Given the description of an element on the screen output the (x, y) to click on. 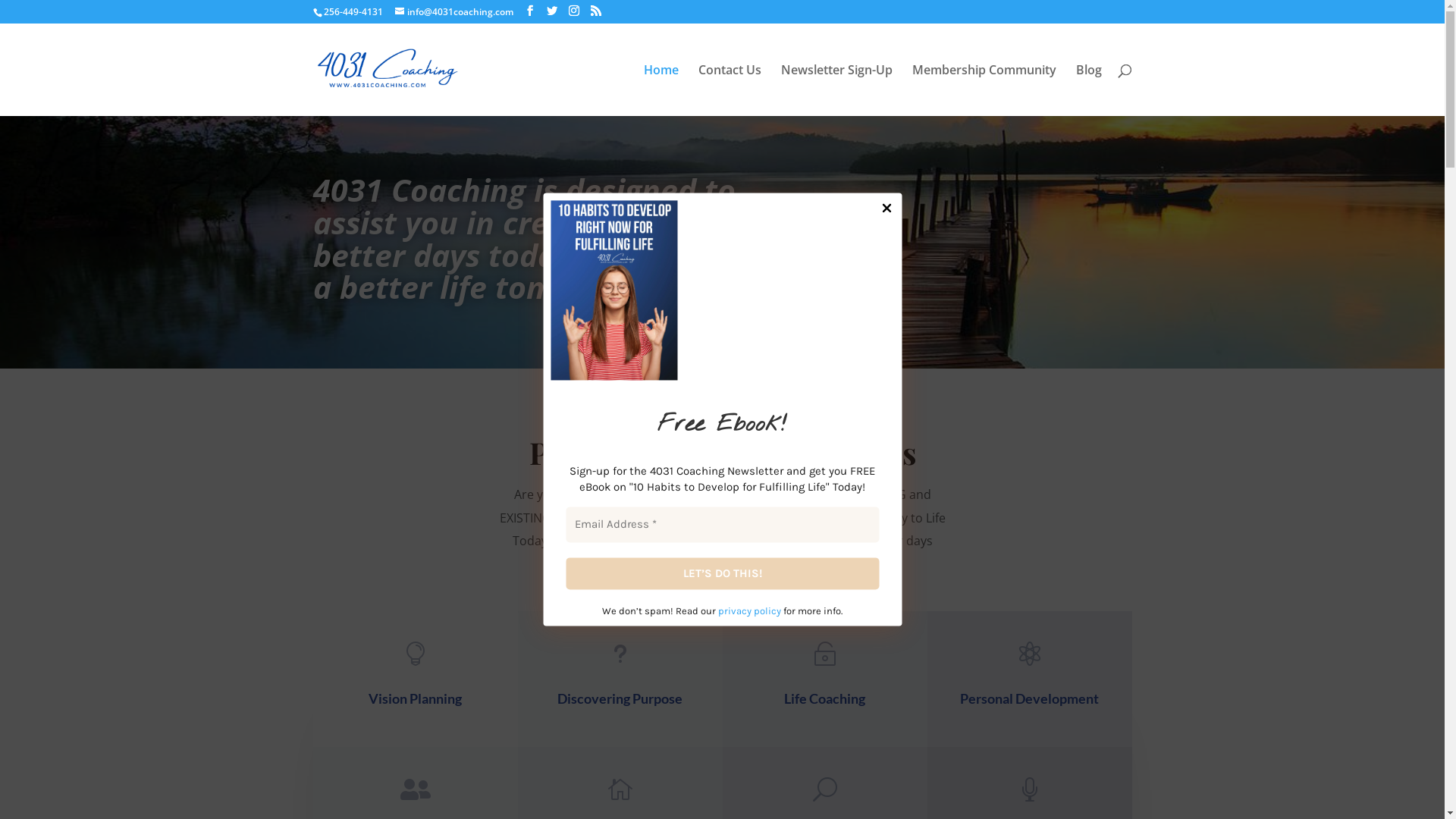
privacy policy Element type: text (749, 610)
Home Element type: text (660, 90)
Newsletter Sign-Up Element type: text (836, 90)
Blog Element type: text (1088, 90)
Membership Community Element type: text (983, 90)
Email Address Element type: hover (721, 524)
Contact Us Element type: text (728, 90)
info@4031coaching.com Element type: text (453, 11)
